Given the description of an element on the screen output the (x, y) to click on. 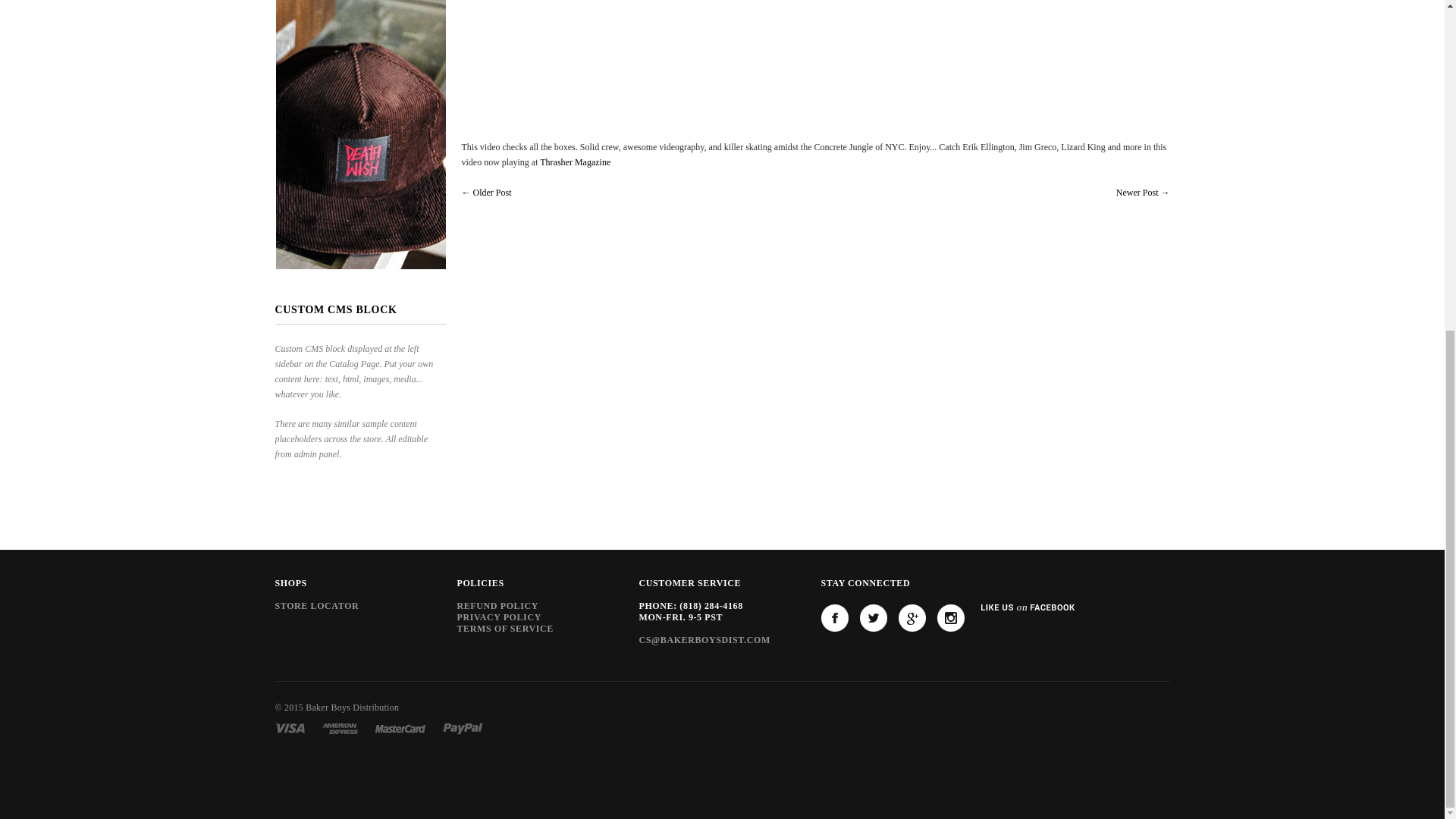
bakerboys on Instagram (950, 617)
Paypal (462, 727)
bakerboys on Facebook (834, 617)
bakerboys on Twitter (873, 617)
American express (339, 727)
Mastercard (400, 727)
Visa (289, 727)
